Given the description of an element on the screen output the (x, y) to click on. 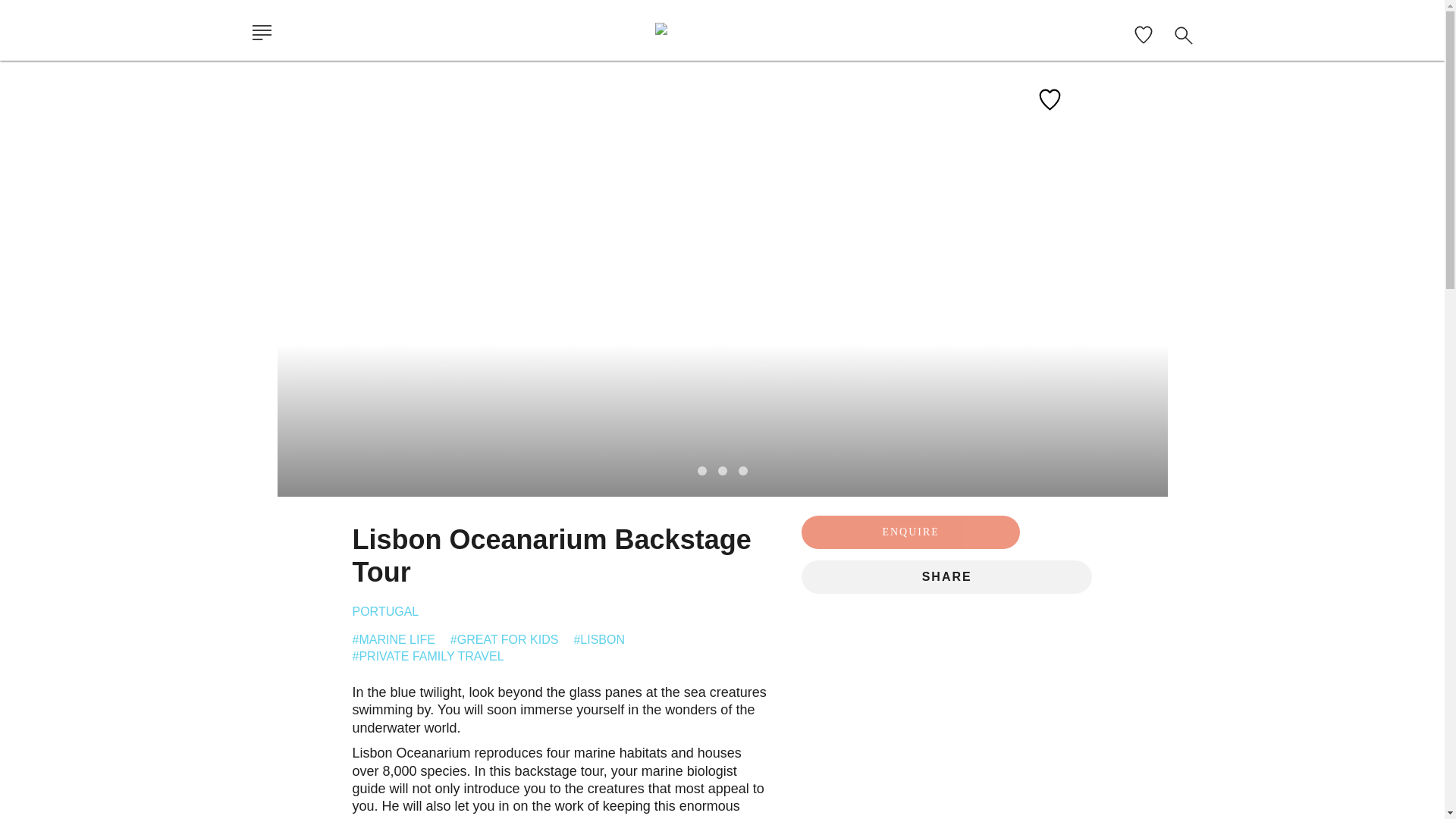
PORTUGAL (385, 611)
ENQUIRE (911, 531)
Main Menu (263, 36)
